Given the description of an element on the screen output the (x, y) to click on. 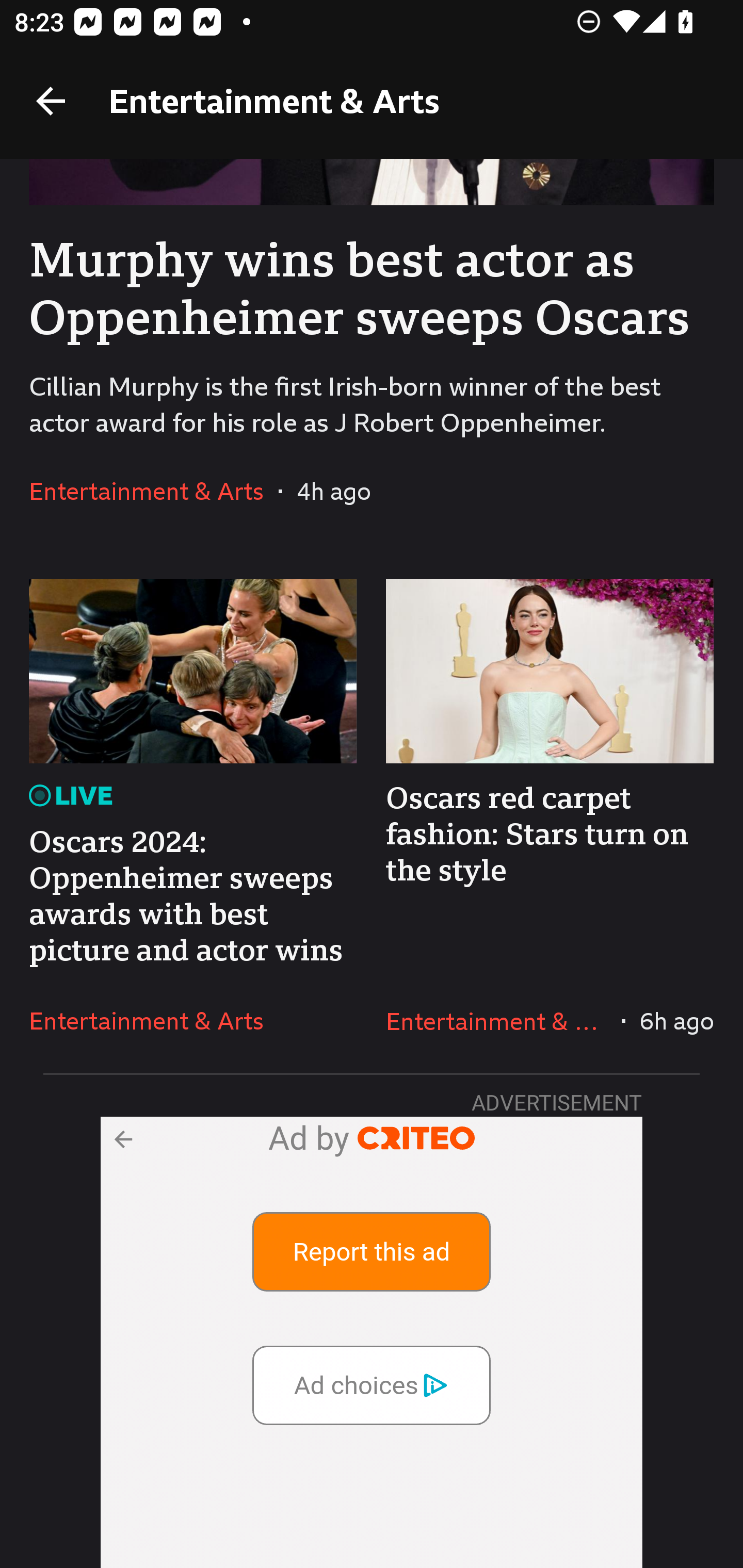
Back (50, 101)
back_button2 (121, 1138)
Report this ad (371, 1251)
Ad choices Ad choices privacy (371, 1384)
